Given the description of an element on the screen output the (x, y) to click on. 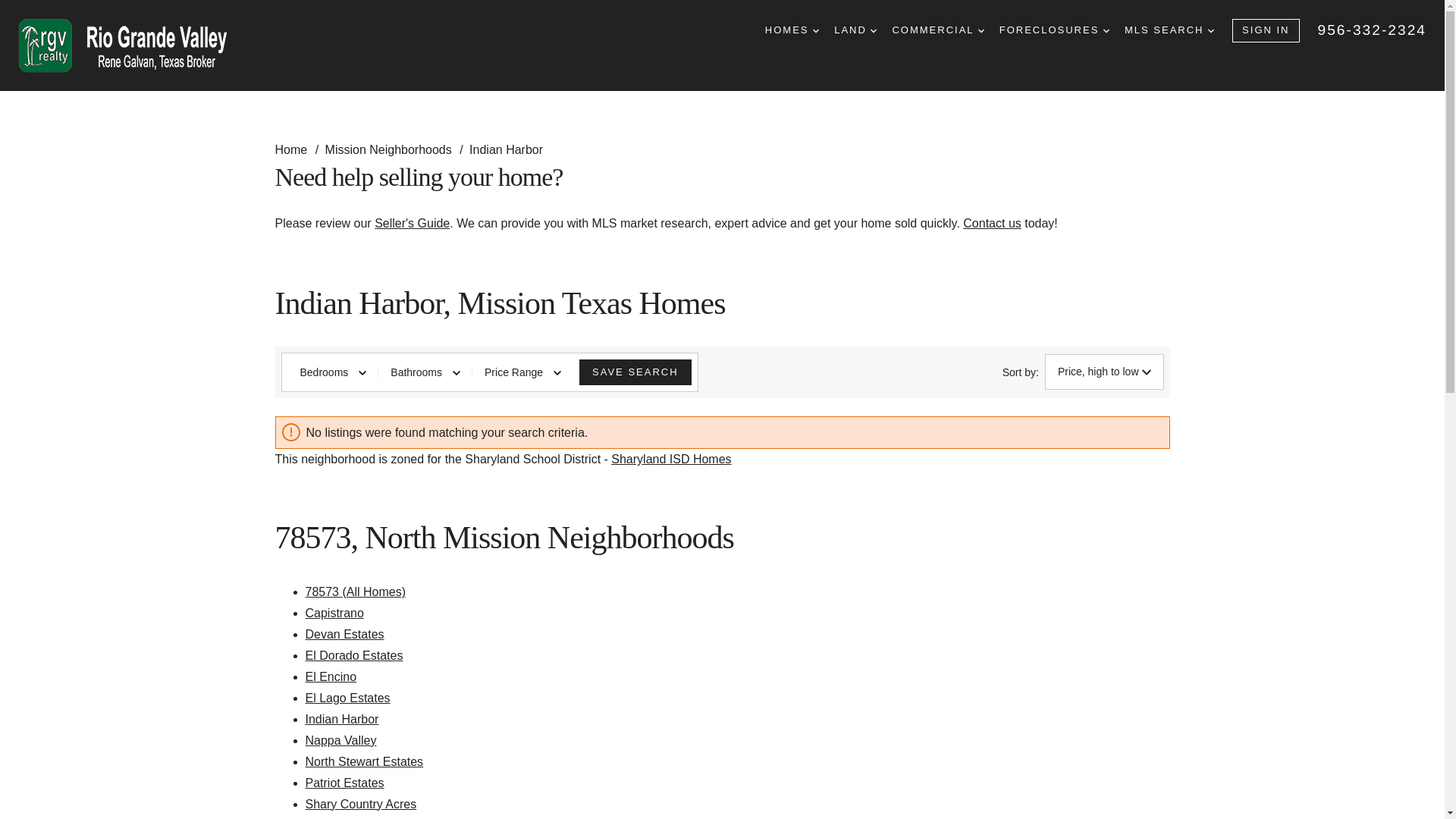
LAND DROPDOWN ARROW (855, 30)
FORECLOSURES DROPDOWN ARROW (1053, 30)
DROPDOWN ARROW (981, 30)
HOMES DROPDOWN ARROW (791, 30)
DROPDOWN ARROW (873, 30)
DROPDOWN ARROW (815, 30)
MLS SEARCH DROPDOWN ARROW (1169, 30)
COMMERCIAL DROPDOWN ARROW (937, 30)
DROPDOWN ARROW (1211, 30)
DROPDOWN ARROW (1106, 30)
